Given the description of an element on the screen output the (x, y) to click on. 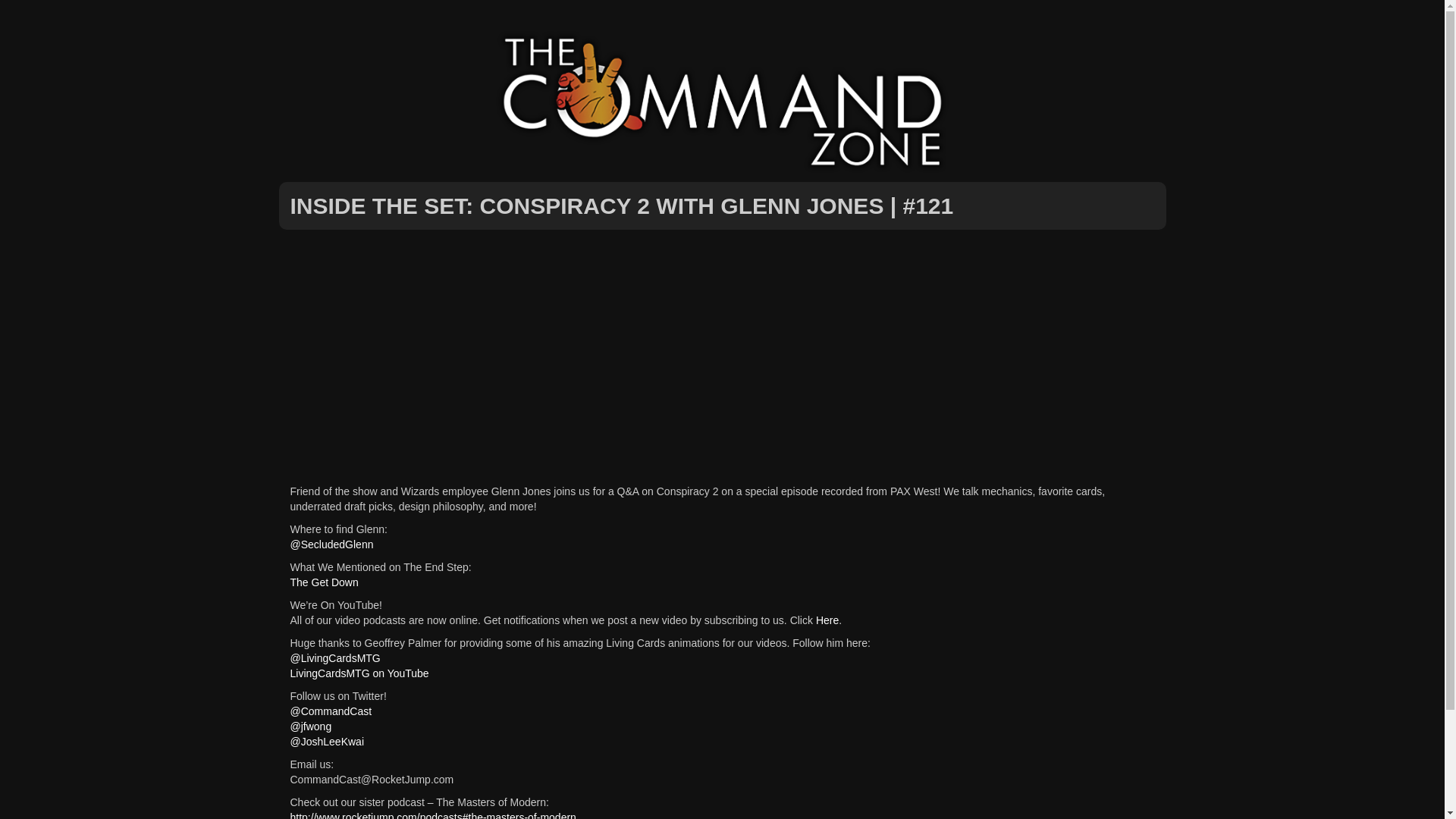
LivingCardsMTG on YouTube (358, 673)
Here (826, 620)
The Get Down (323, 582)
